Given the description of an element on the screen output the (x, y) to click on. 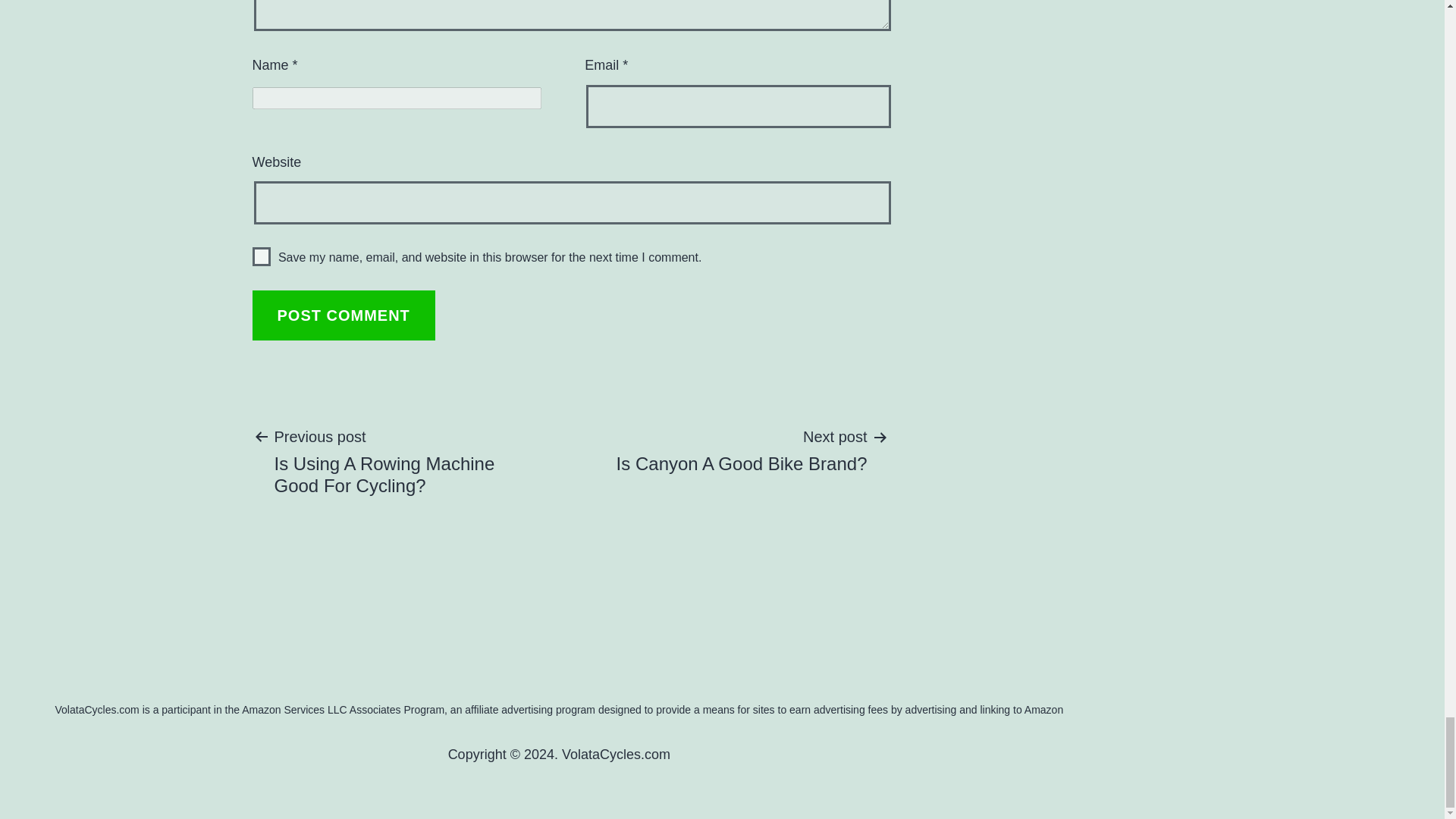
yes (260, 256)
Post Comment (342, 315)
